Given the description of an element on the screen output the (x, y) to click on. 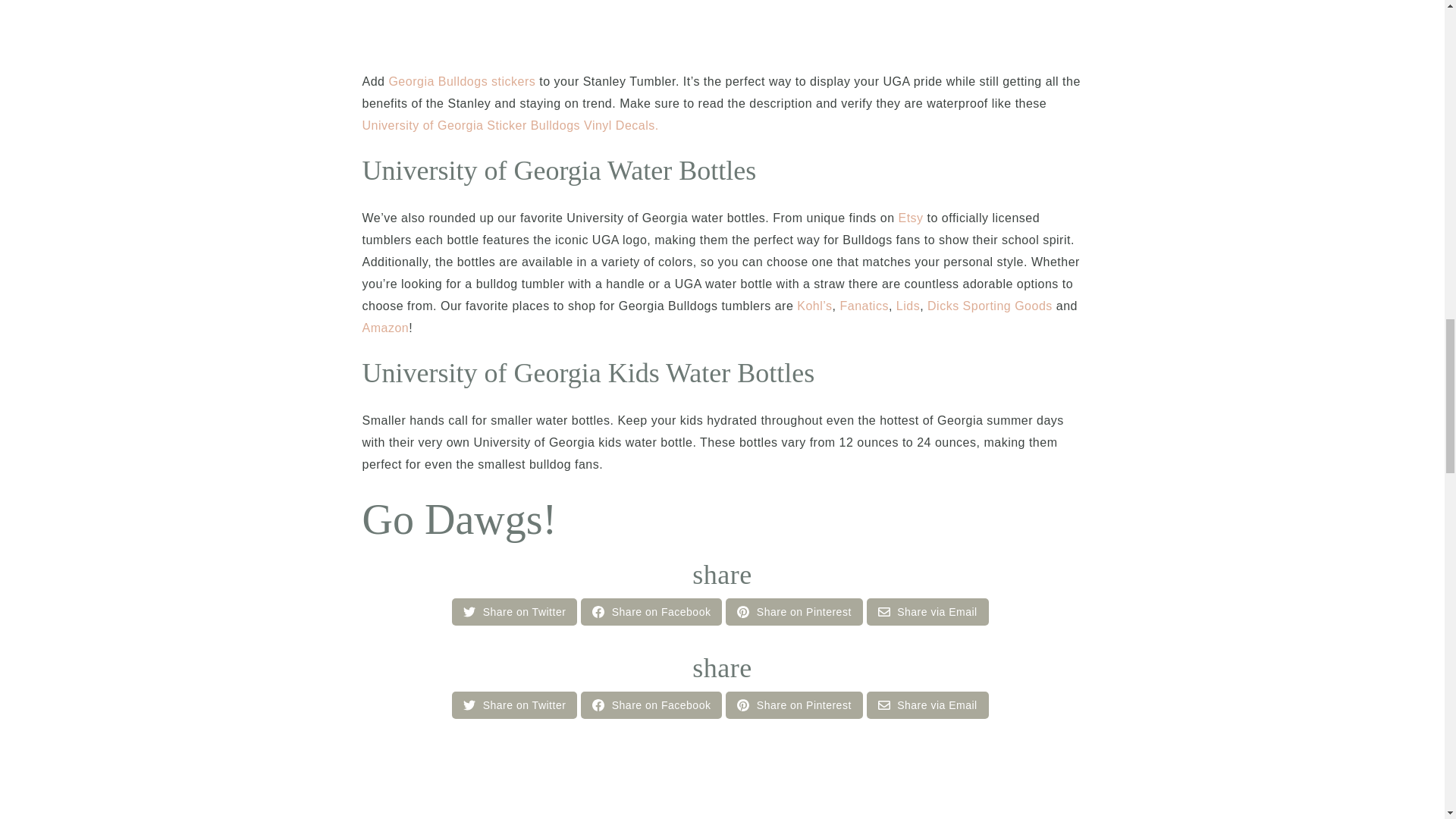
Share on Facebook (651, 705)
Share on Twitter (513, 611)
Share on Facebook (598, 612)
Share via Email (927, 611)
Share on Facebook (651, 611)
Share on Pinterest (742, 705)
Share on Pinterest (793, 611)
Share via Email (883, 705)
Share on Pinterest (793, 705)
Share on Twitter (469, 705)
